Given the description of an element on the screen output the (x, y) to click on. 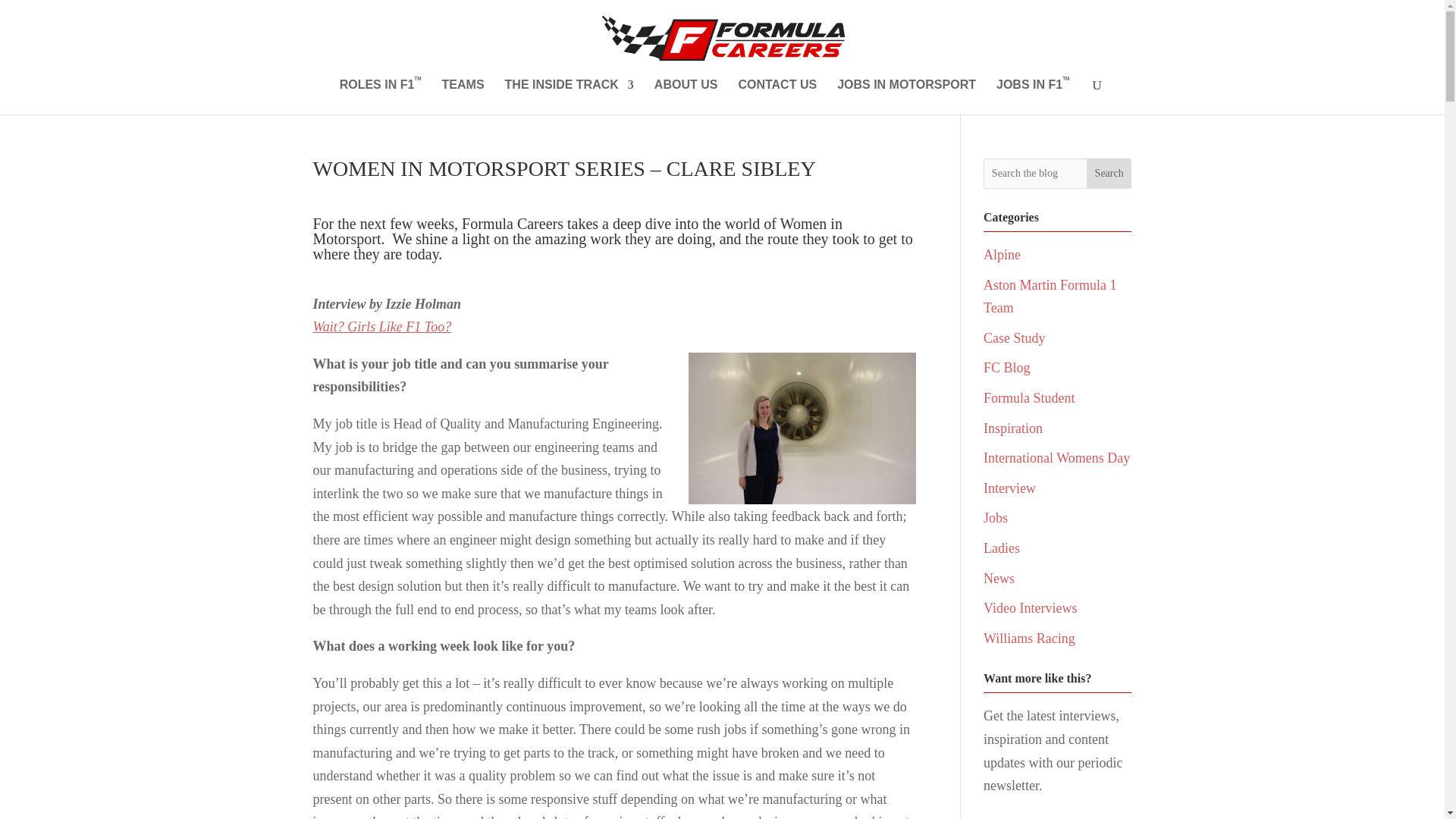
Jobs (995, 517)
Williams Racing (1029, 638)
TEAMS (463, 96)
Inspiration (1013, 427)
Ladies (1002, 548)
ROLES IN F1TM (380, 96)
International Womens Day (1056, 458)
FC Blog (1007, 367)
ABOUT US (685, 96)
JOBS IN F1TM (1031, 96)
Formula Student (1029, 397)
THE INSIDE TRACK (569, 96)
Alpine (1002, 254)
News (999, 578)
Interview (1009, 488)
